Given the description of an element on the screen output the (x, y) to click on. 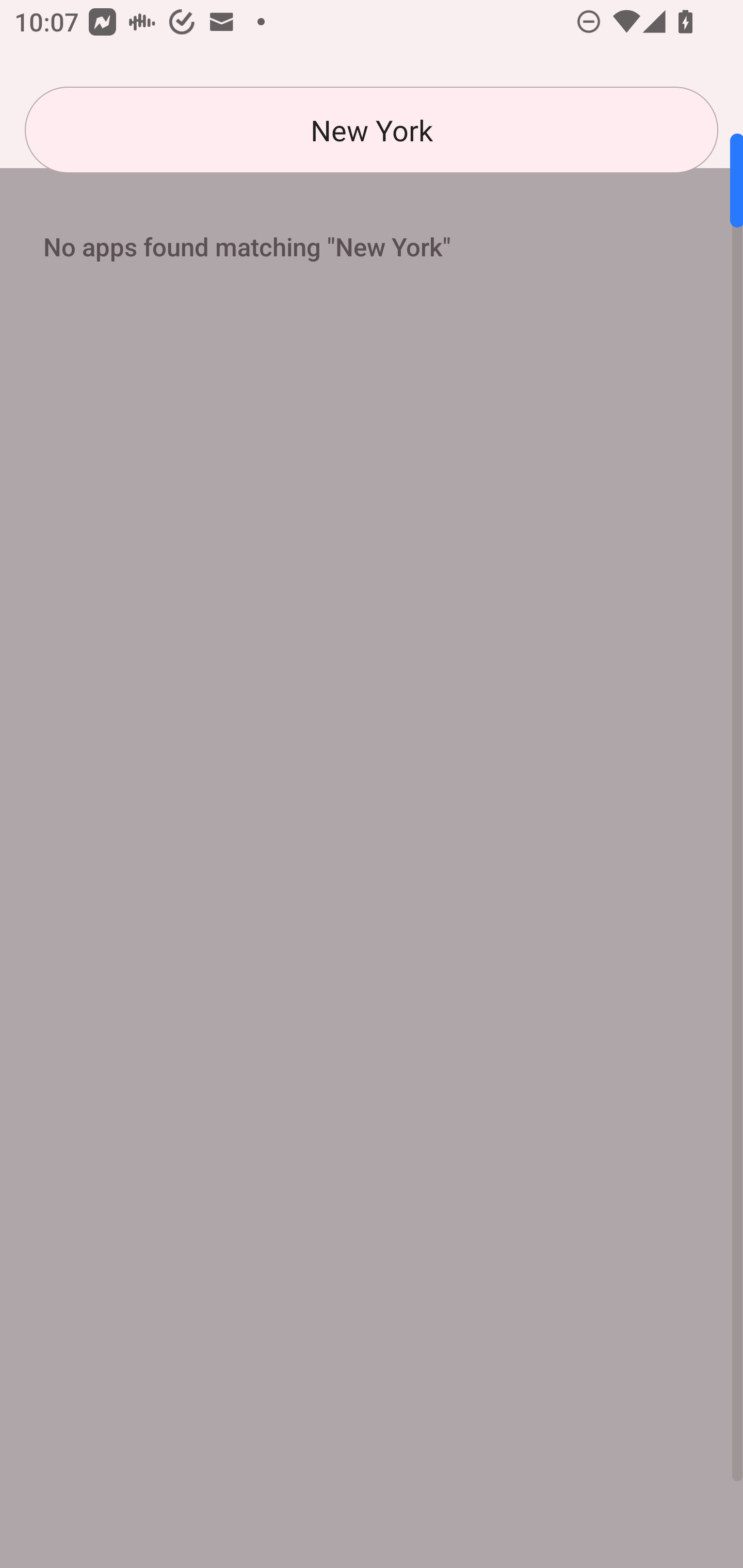
New York (371, 130)
